Given the description of an element on the screen output the (x, y) to click on. 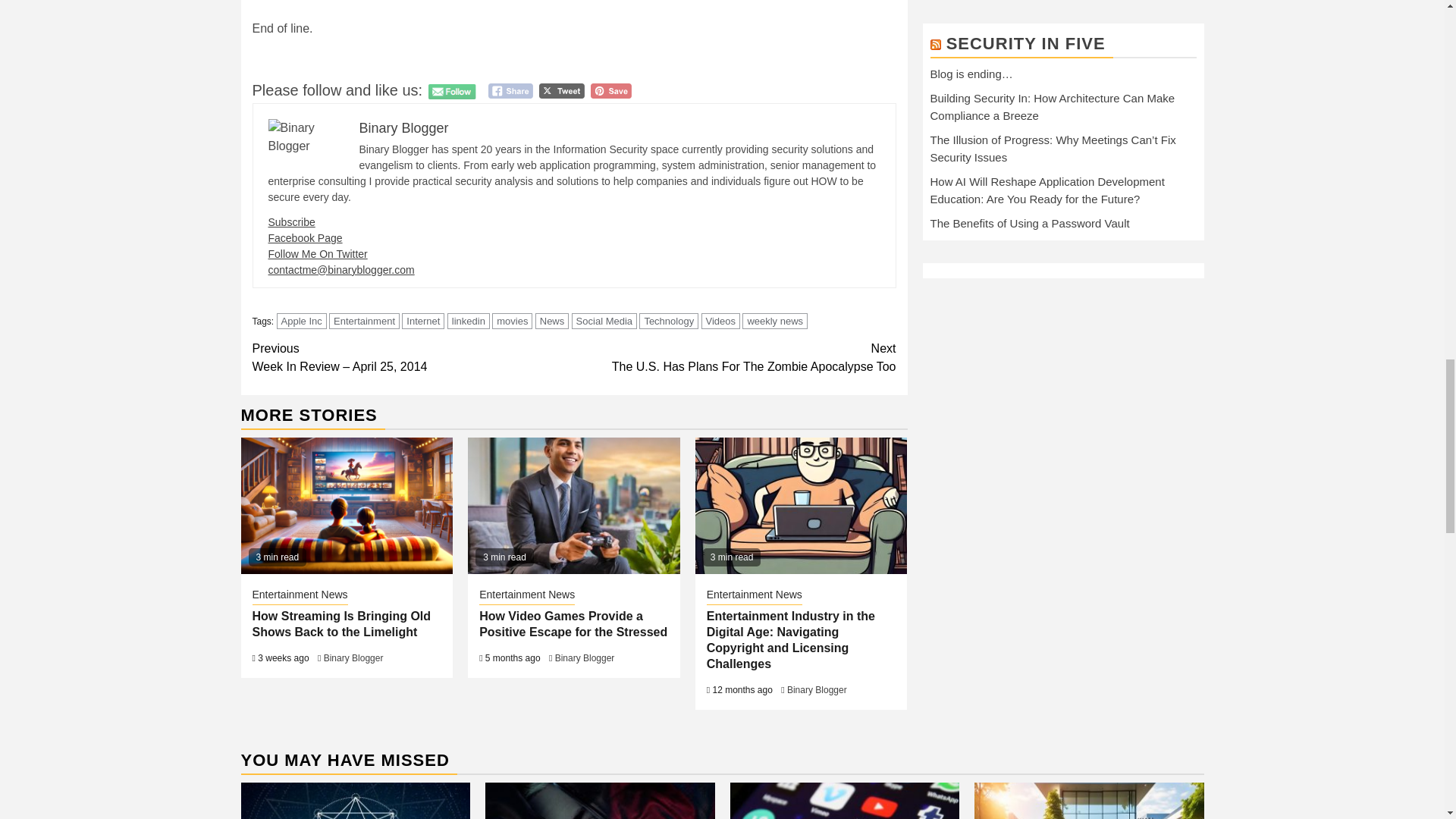
Binary Blogger (403, 127)
Tweet (561, 90)
Subscribe (291, 222)
Subscribe (291, 222)
Facebook Share (509, 90)
Follow Me On Twitter (317, 254)
Pin Share (611, 90)
Facebook Page (304, 237)
